Given the description of an element on the screen output the (x, y) to click on. 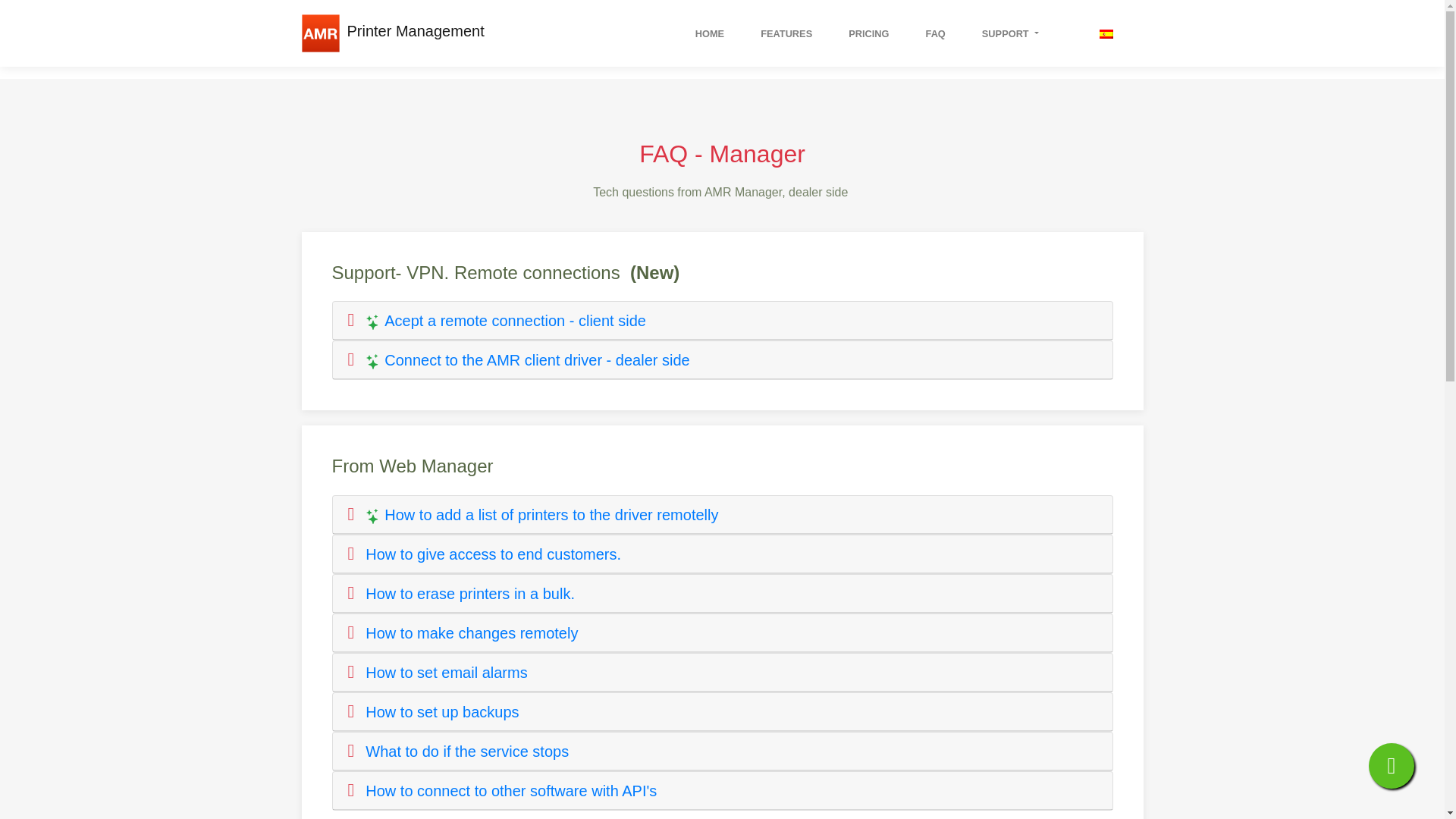
FAQ (936, 33)
How to give access to end customers. (493, 554)
How to add a list of printers to the driver remotelly (541, 514)
How to set email alarms (446, 672)
FEATURES (786, 33)
How to erase printers in a bulk. (470, 593)
SUPPORT  (1010, 33)
What to do if the service stops (467, 751)
How to make changes remotely (471, 632)
Printer Management (411, 30)
